Given the description of an element on the screen output the (x, y) to click on. 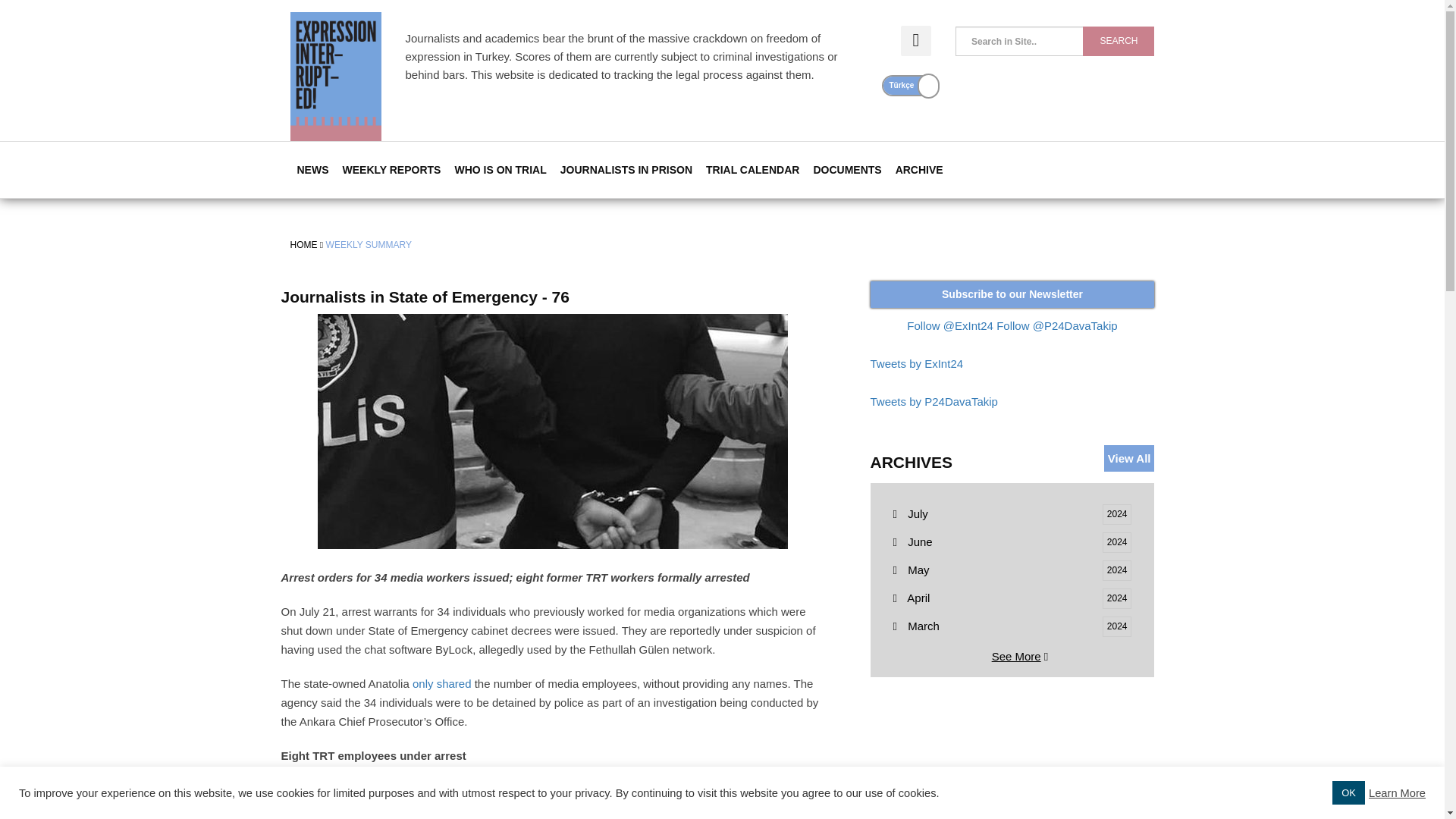
Tweets by P24DavaTakip (933, 400)
were imprisoned (544, 798)
HOME (306, 244)
TRIAL CALENDAR (752, 170)
WHO IS ON TRIAL (499, 170)
DOCUMENTS (847, 170)
WEEKLY REPORTS (390, 170)
Subscribe to our Newsletter (1012, 294)
Tweets by ExInt24 (916, 363)
SEARCH (1118, 41)
only shared (441, 683)
ARCHIVE (919, 170)
JOURNALISTS IN PRISON (625, 170)
